Given the description of an element on the screen output the (x, y) to click on. 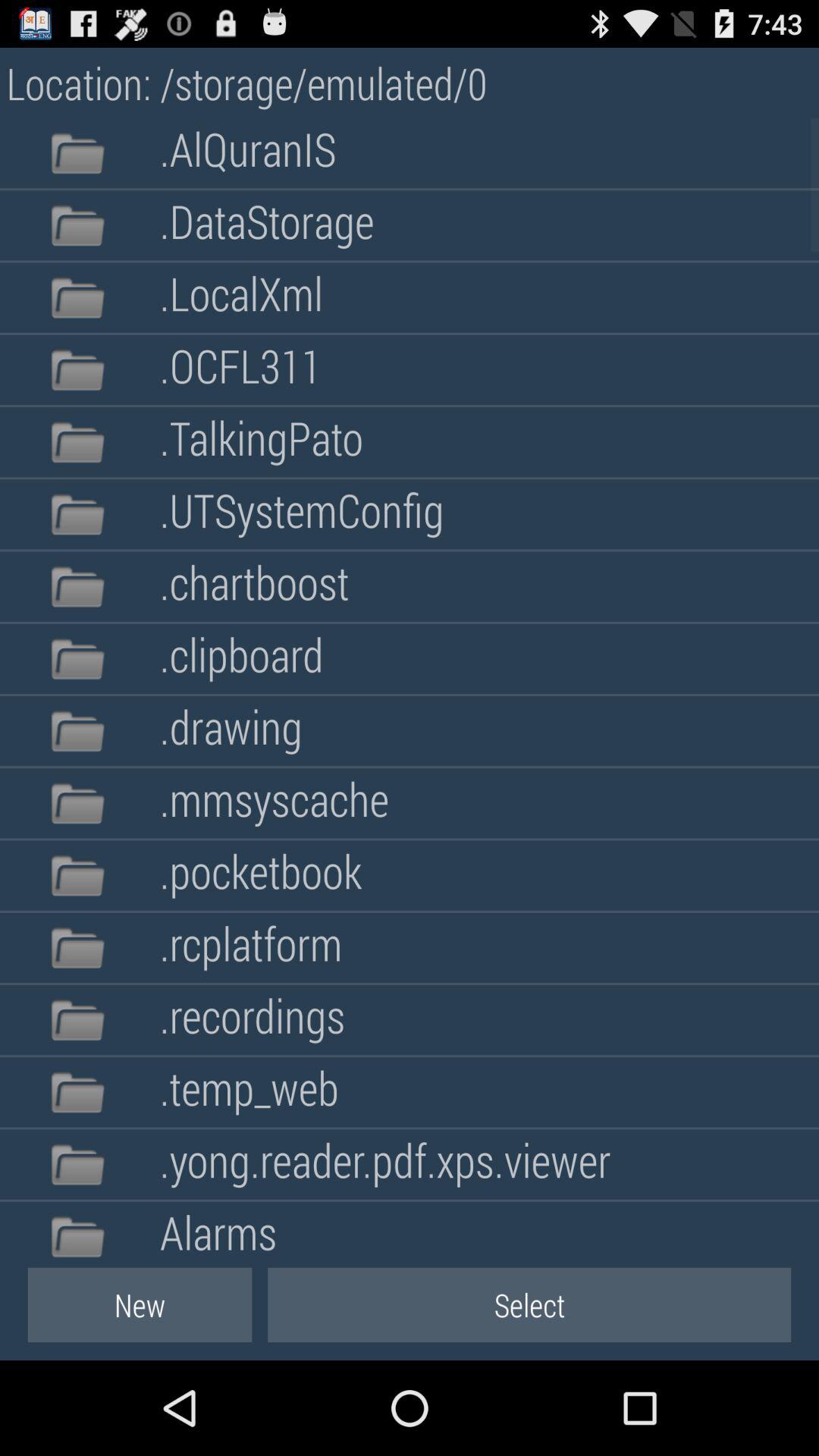
tap .localxml app (241, 297)
